Given the description of an element on the screen output the (x, y) to click on. 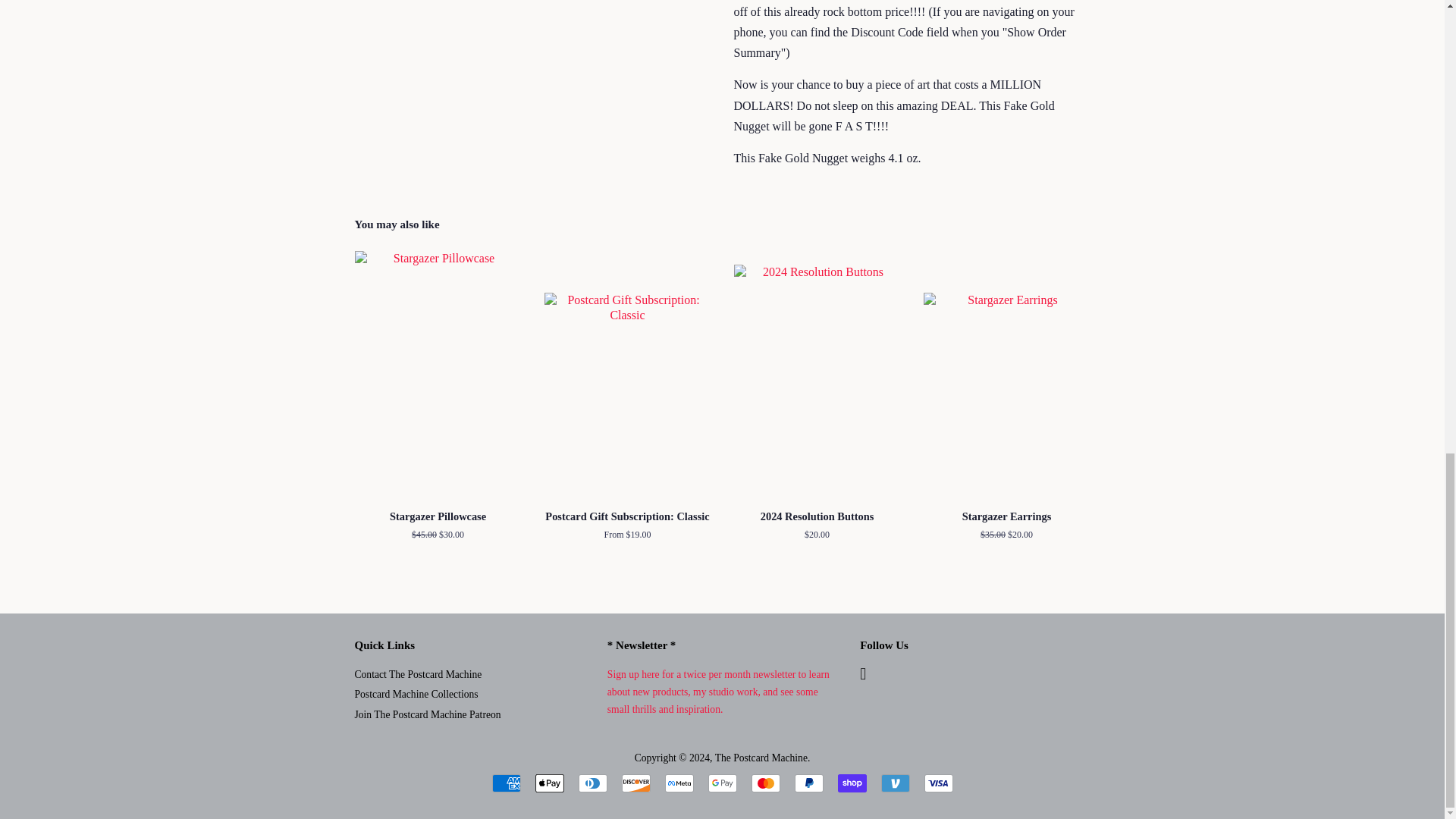
PayPal (809, 782)
Discover (635, 782)
Diners Club (592, 782)
Apple Pay (549, 782)
Visa (937, 782)
Venmo (895, 782)
Mastercard (764, 782)
Shop Pay (851, 782)
Meta Pay (678, 782)
American Express (505, 782)
Google Pay (721, 782)
